Given the description of an element on the screen output the (x, y) to click on. 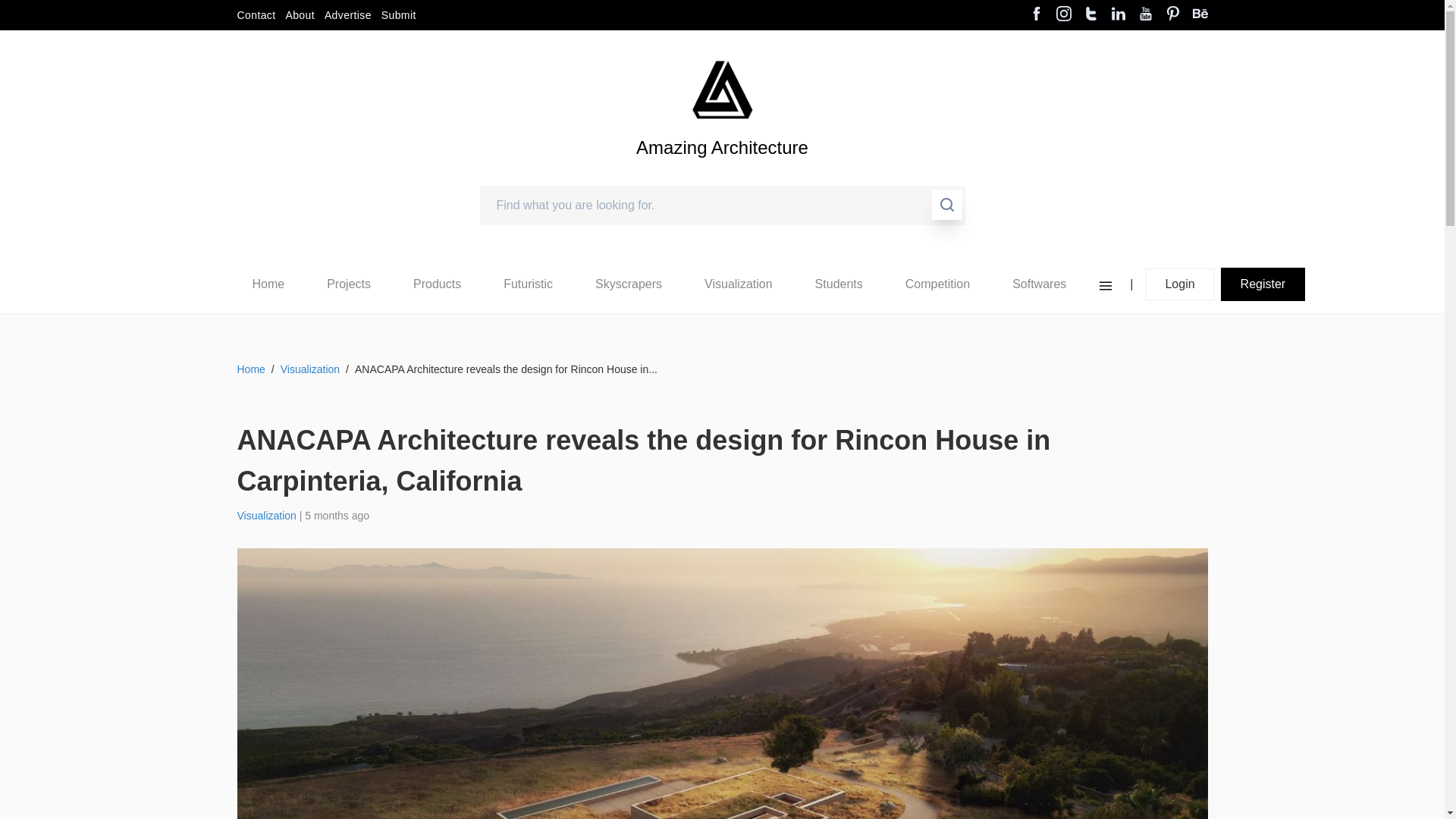
Projects (348, 283)
Amazing Architecture (722, 173)
Products (437, 283)
Amazing Architecture (721, 88)
Projects (348, 284)
Home (267, 284)
Futuristic (528, 283)
Skyscrapers (628, 283)
Home (267, 283)
Submit page (398, 15)
Advertisement page (347, 15)
Contact (255, 15)
About (299, 15)
About us page (299, 15)
Submit (398, 15)
